Given the description of an element on the screen output the (x, y) to click on. 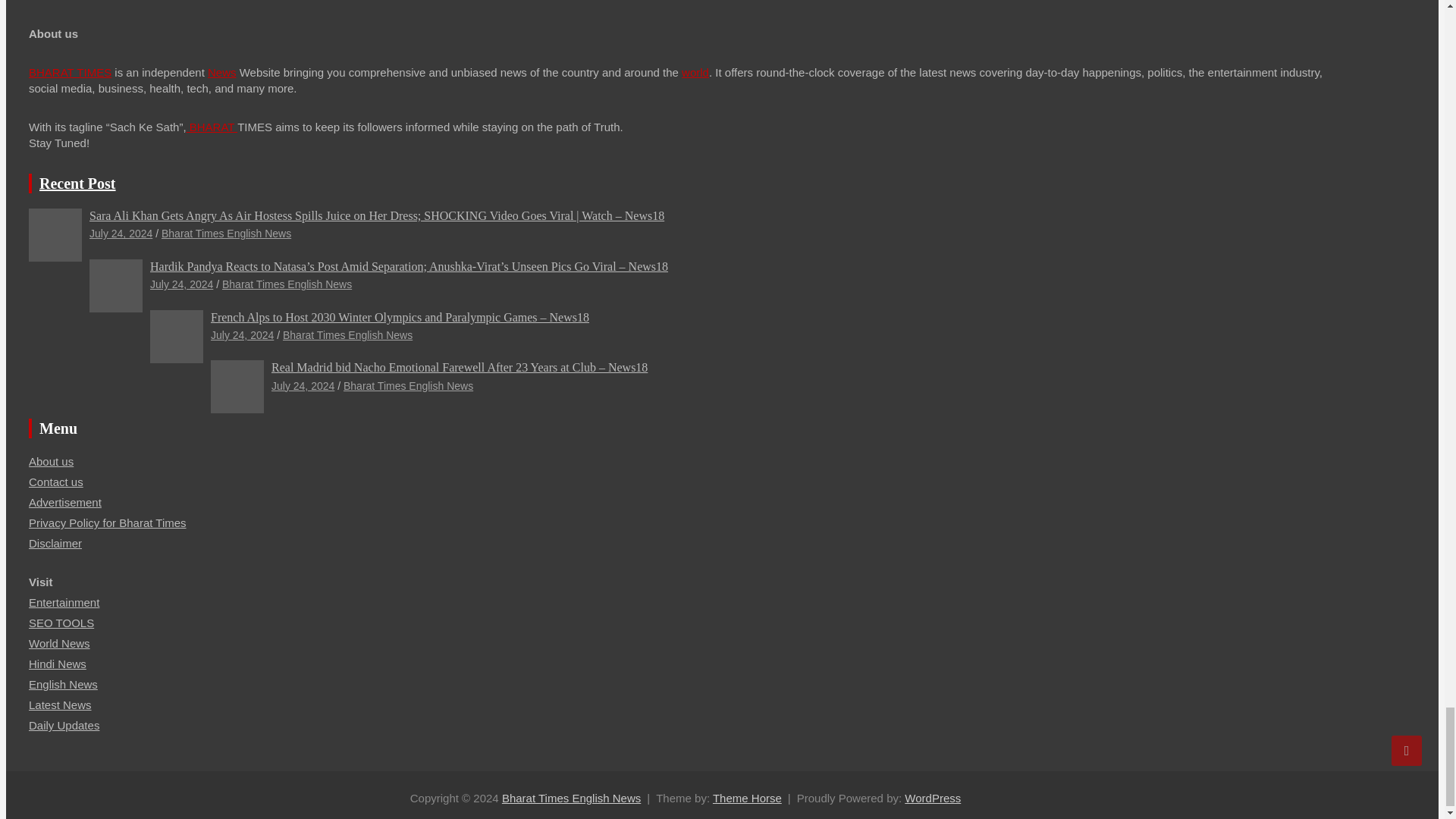
Bharat Times English News (571, 797)
